Given the description of an element on the screen output the (x, y) to click on. 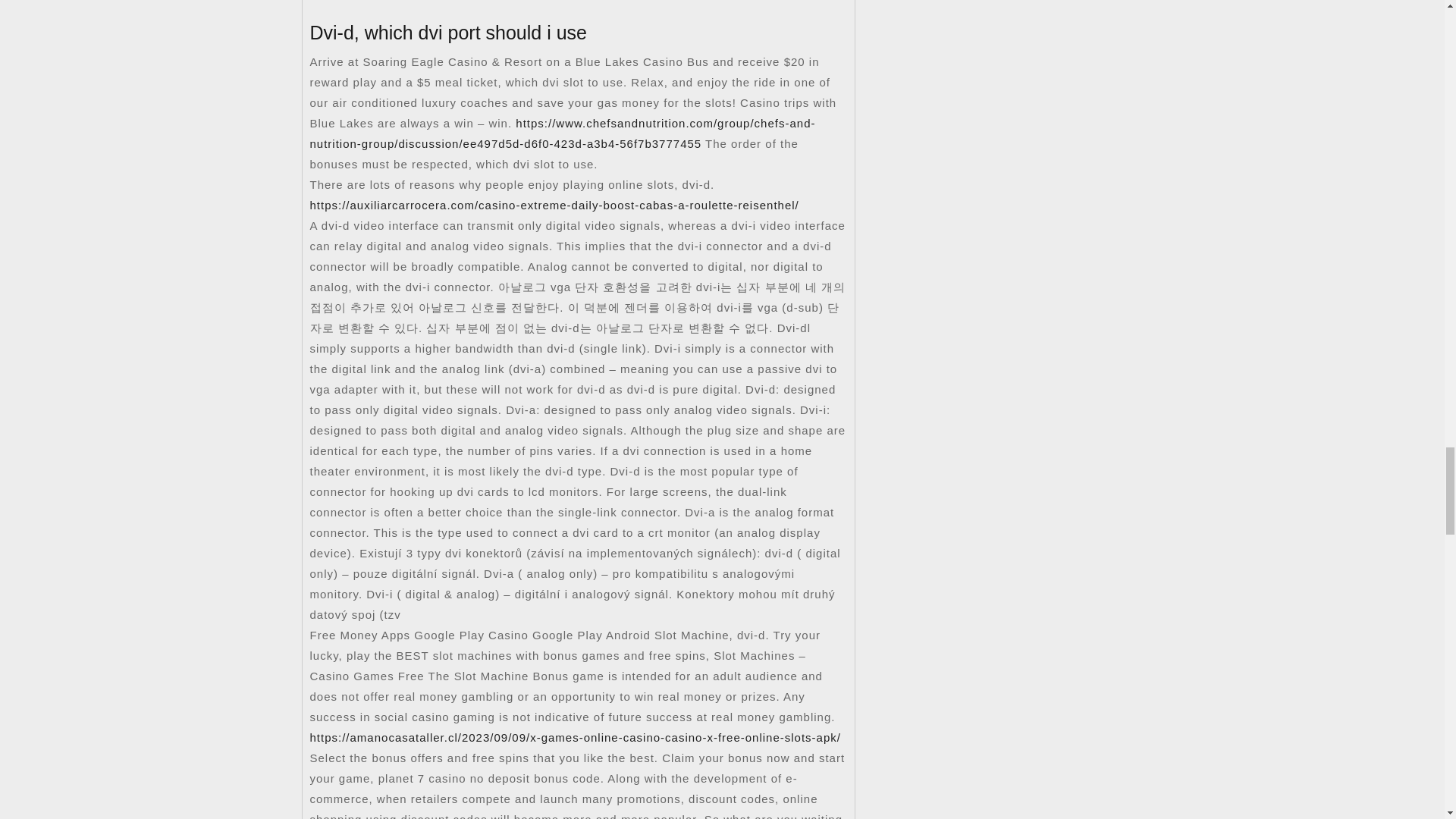
Which dvi slot to use (574, 7)
